Given the description of an element on the screen output the (x, y) to click on. 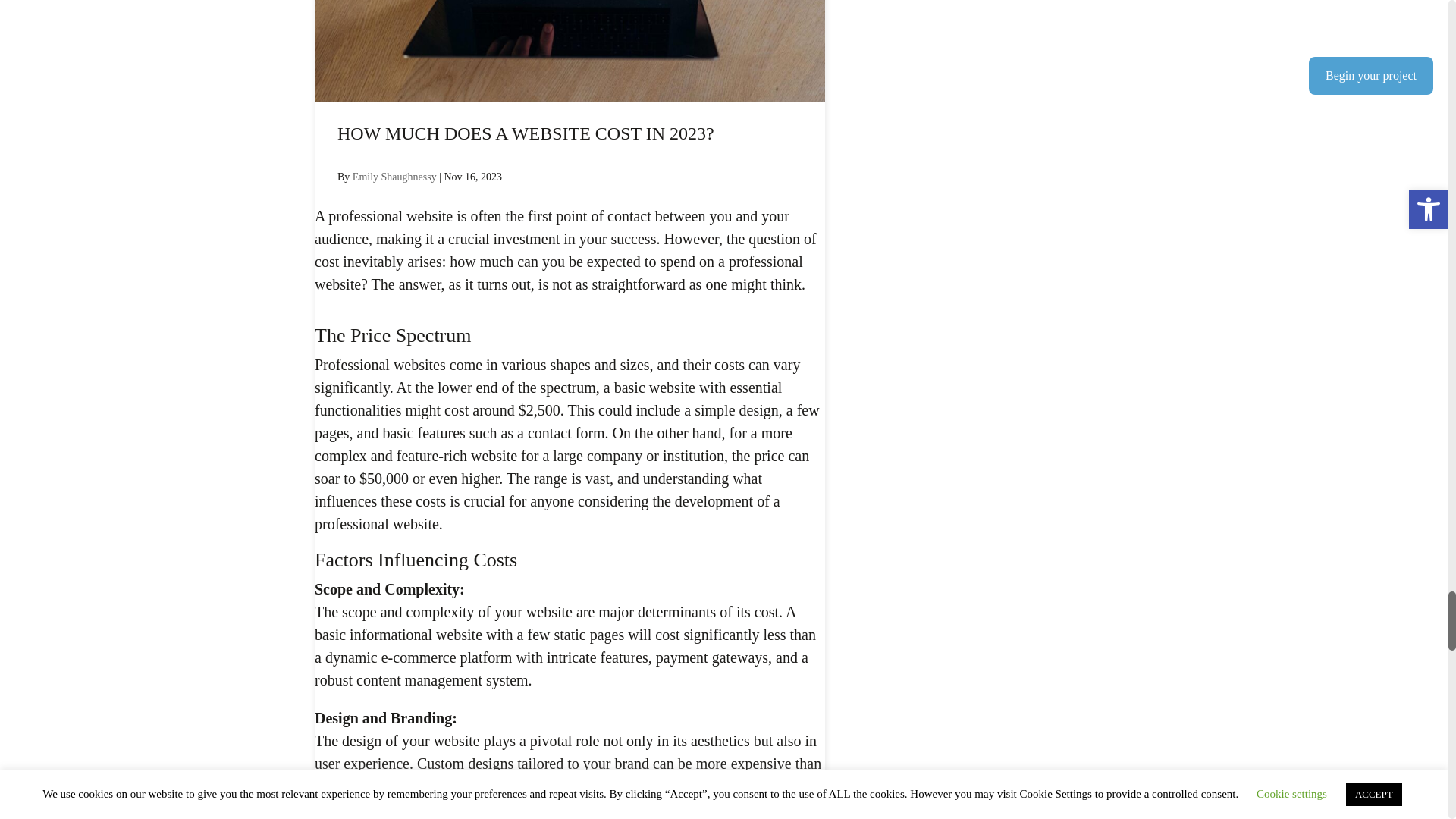
Posts by Emily Shaughnessy (394, 176)
